Given the description of an element on the screen output the (x, y) to click on. 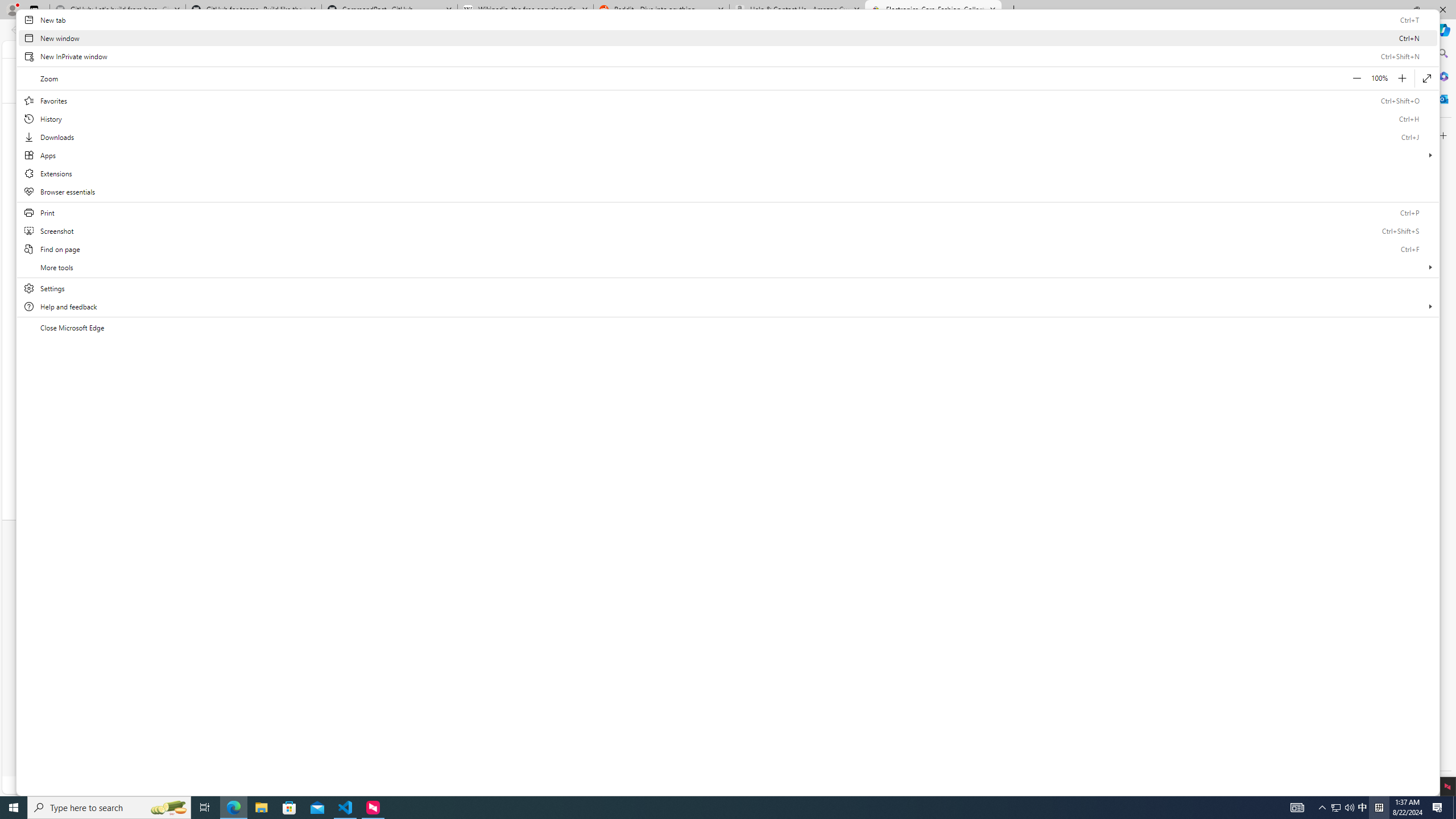
eBay's Blogs (703, 573)
Government relations (830, 628)
Learn to sell (525, 587)
Consumer Health Data (656, 749)
Deals (955, 112)
Sign in (383, 48)
Collectibles and Art (640, 112)
Electronics (494, 112)
Your Privacy Choices (877, 749)
Affiliates (557, 600)
Site map (557, 665)
Buy (367, 559)
Motors (540, 112)
